Given the description of an element on the screen output the (x, y) to click on. 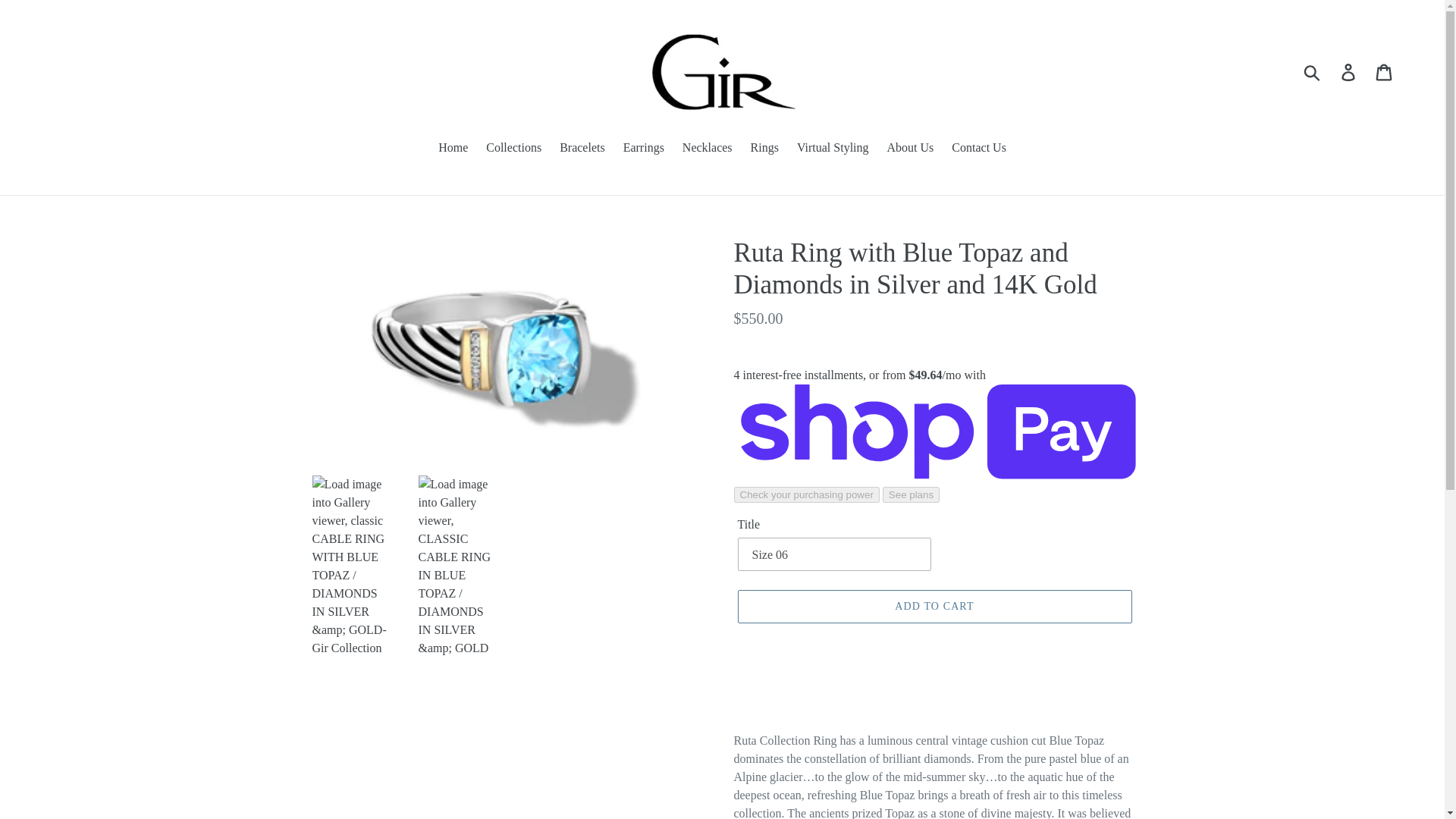
Submit (1313, 70)
Necklaces (707, 148)
Contact Us (978, 148)
Earrings (643, 148)
About Us (910, 148)
Collections (513, 148)
Log in (1349, 71)
Bracelets (581, 148)
Cart (1385, 71)
ADD TO CART (933, 606)
Rings (764, 148)
Home (453, 148)
Virtual Styling (832, 148)
